Given the description of an element on the screen output the (x, y) to click on. 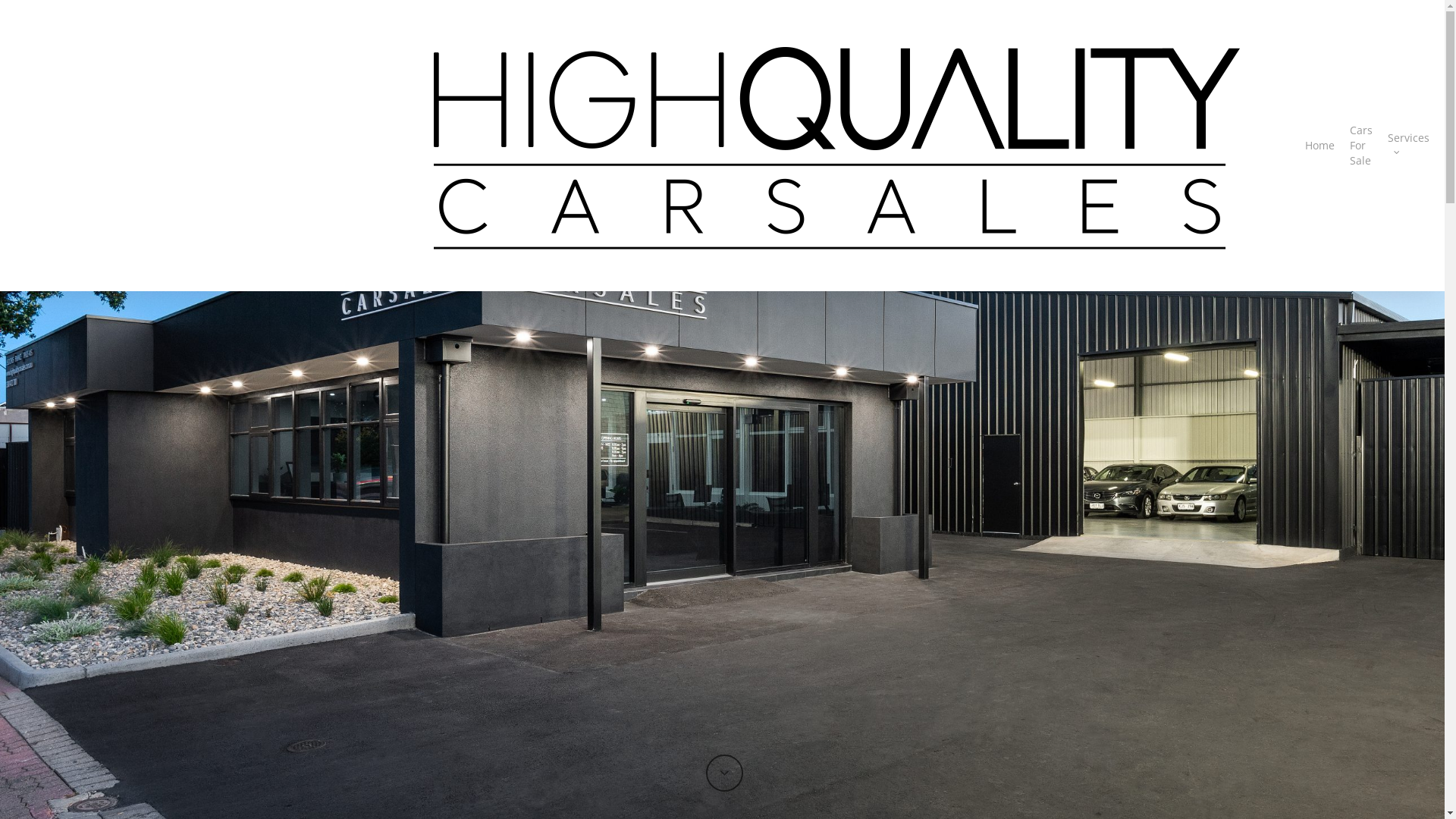
Home Element type: text (1319, 145)
Services Element type: text (1408, 145)
Cars For Sale Element type: text (1360, 145)
